Given the description of an element on the screen output the (x, y) to click on. 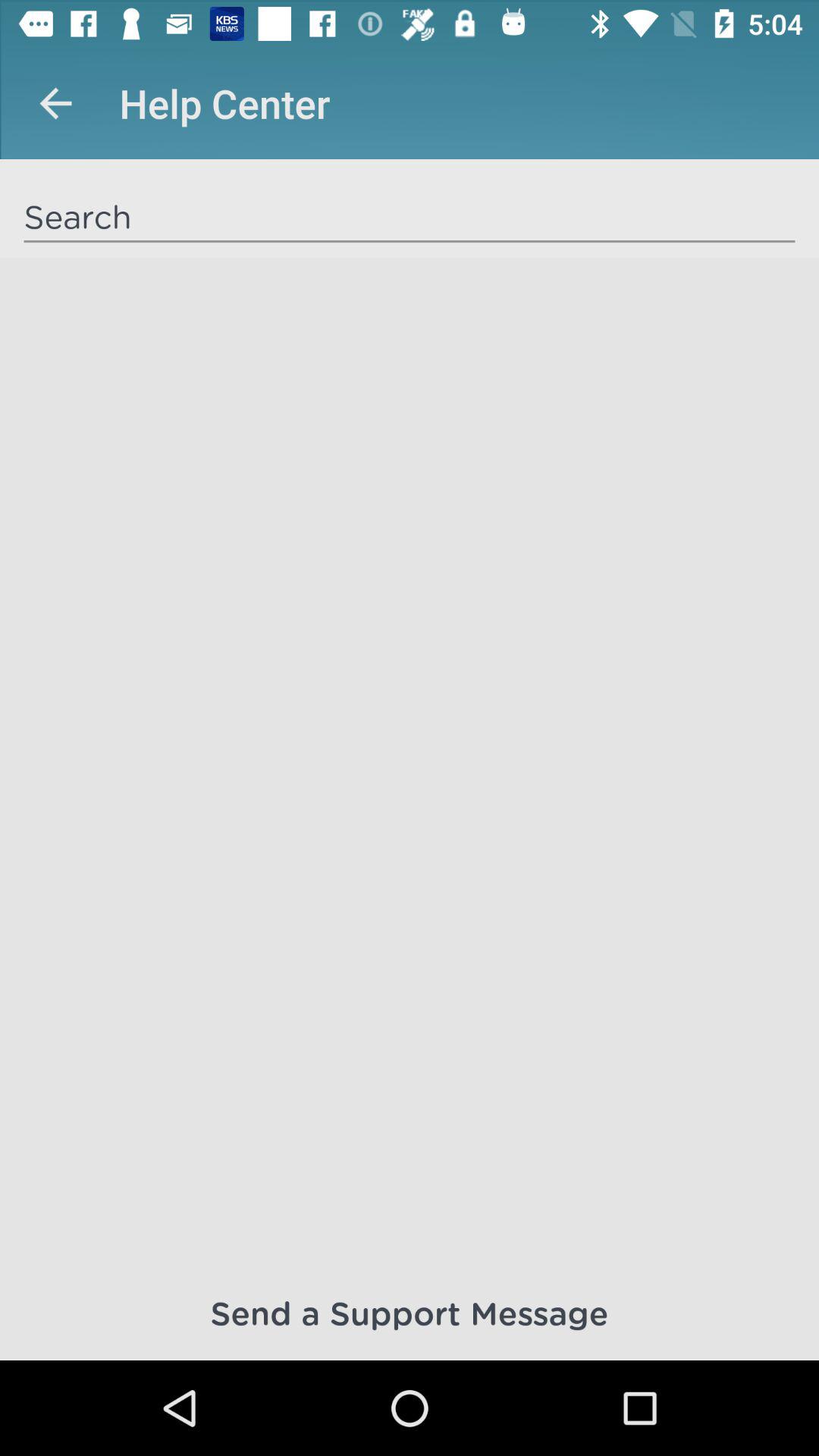
turn off icon at the top (409, 216)
